Given the description of an element on the screen output the (x, y) to click on. 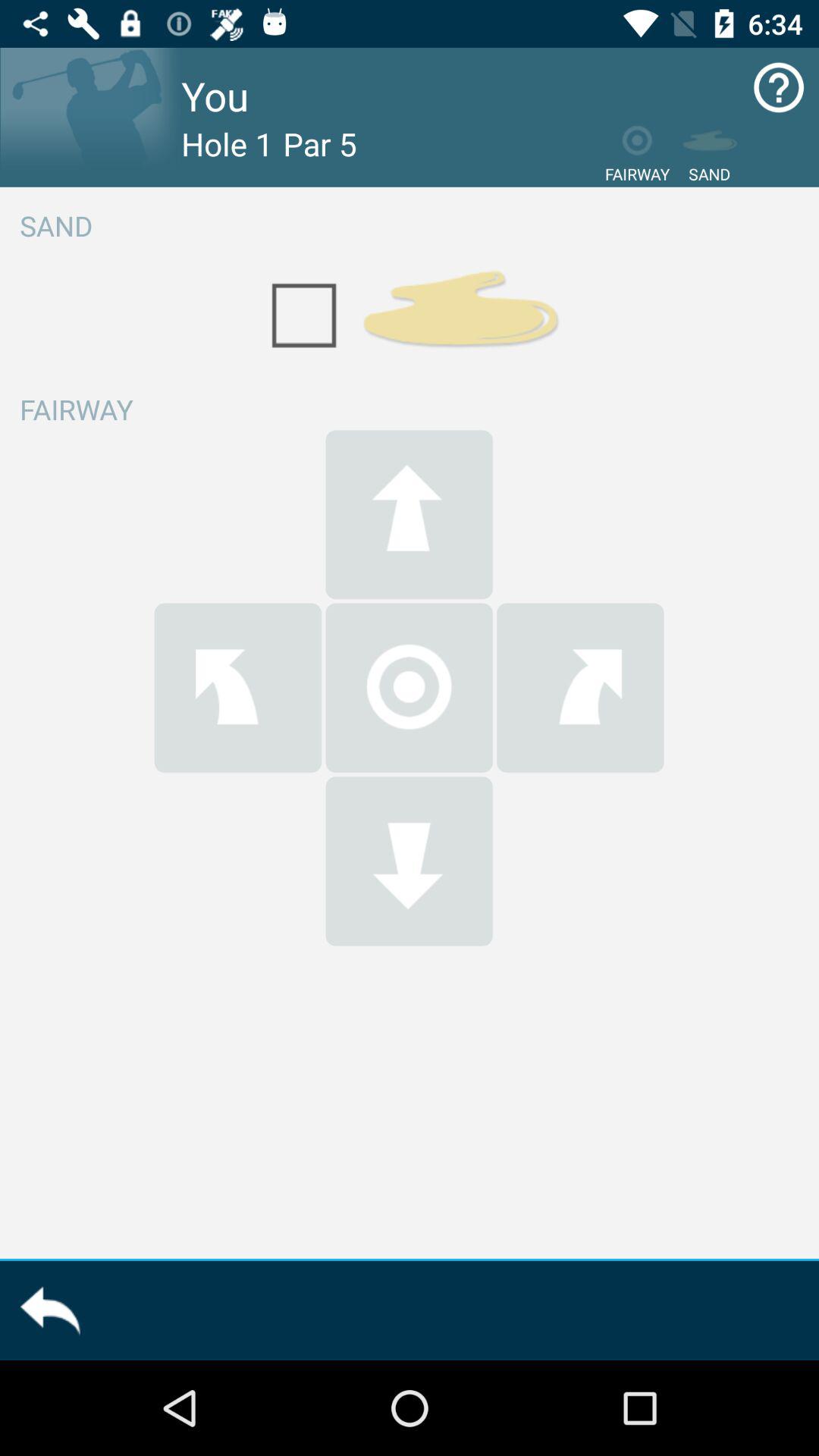
move right (580, 687)
